Given the description of an element on the screen output the (x, y) to click on. 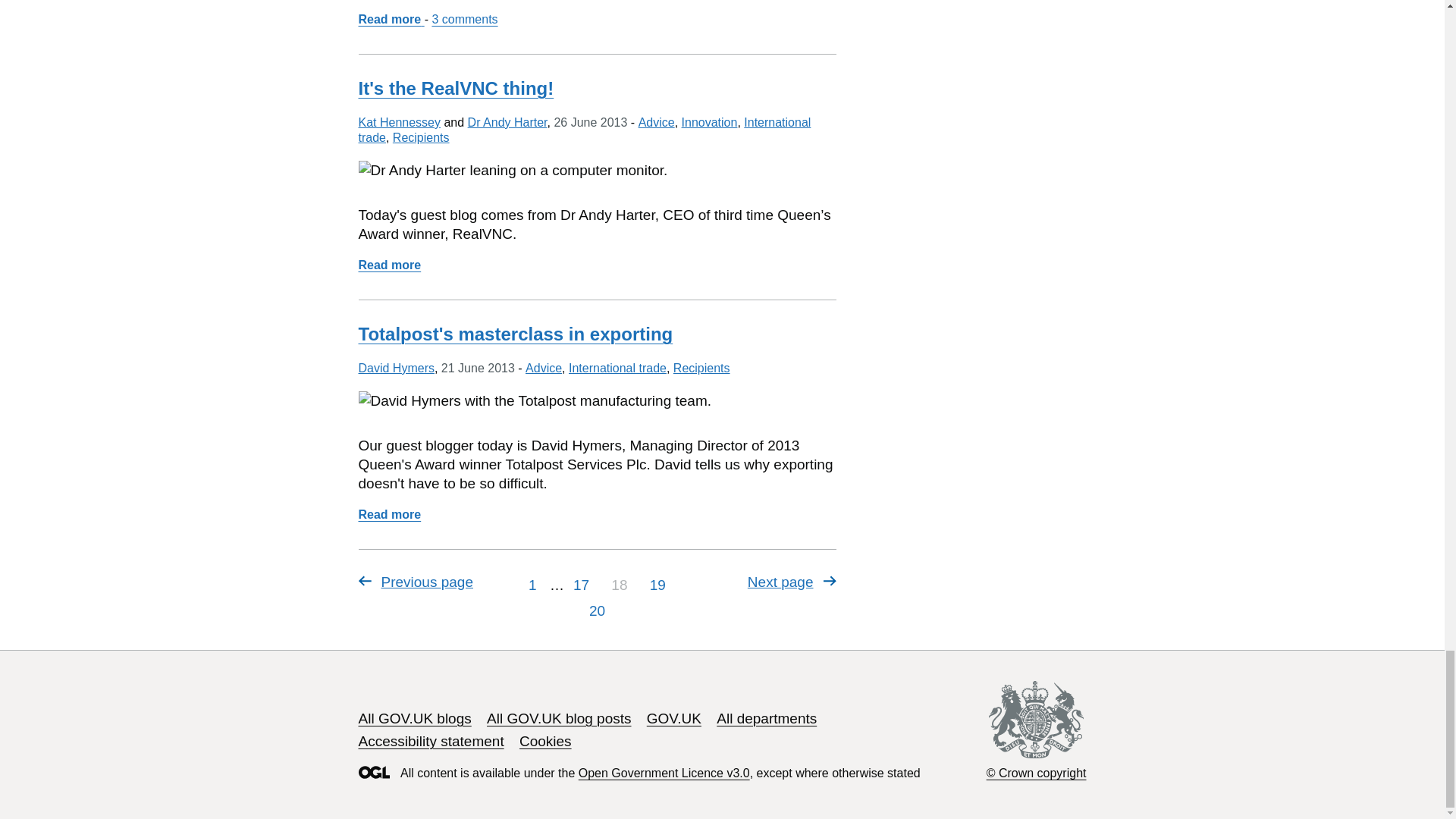
Posts by Kat Hennessey (399, 122)
Posts by Dr Andy Harter (507, 122)
Posts by David Hymers (395, 367)
